Given the description of an element on the screen output the (x, y) to click on. 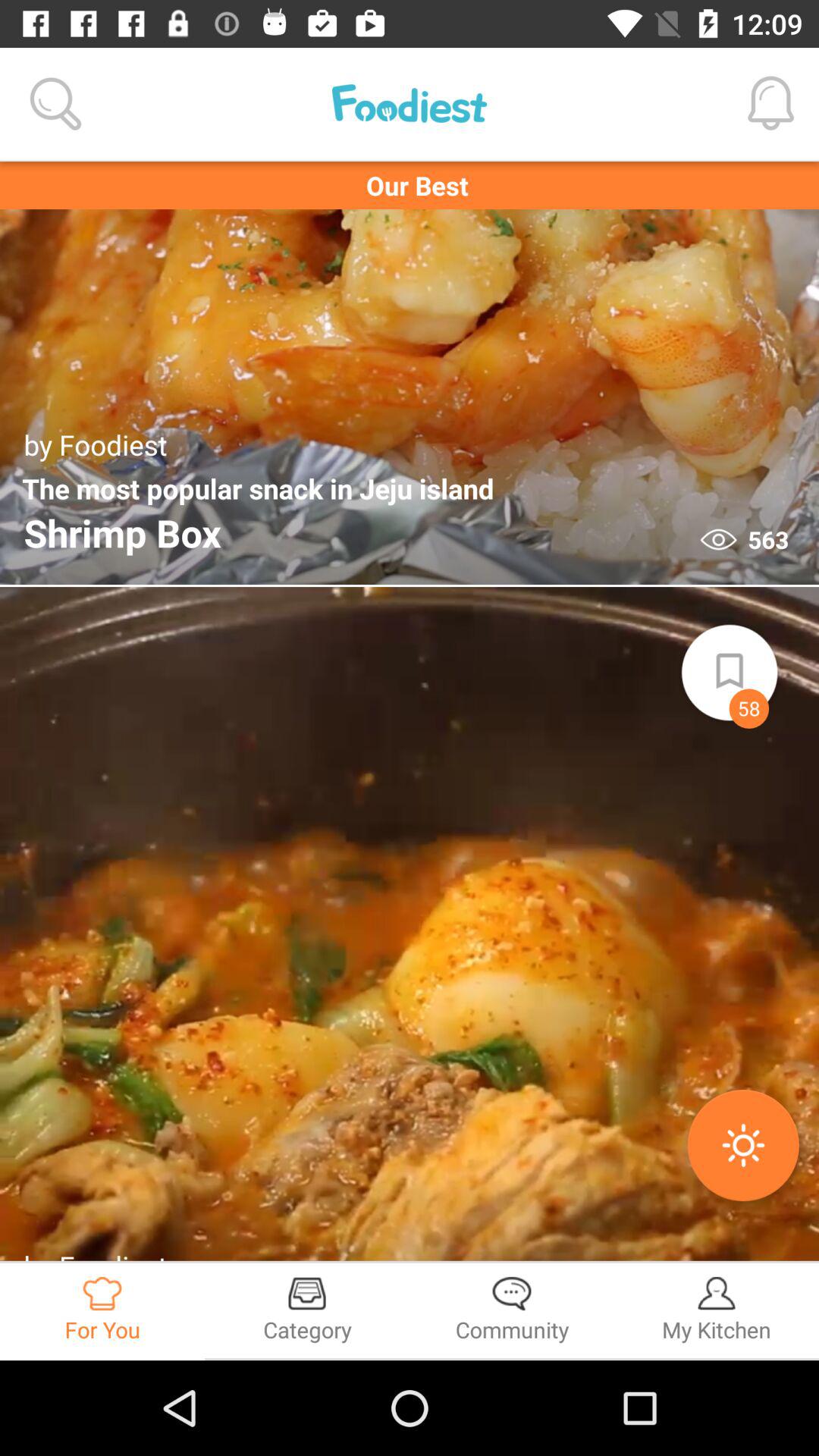
select the second orange colored button on the second image (743, 1145)
